Given the description of an element on the screen output the (x, y) to click on. 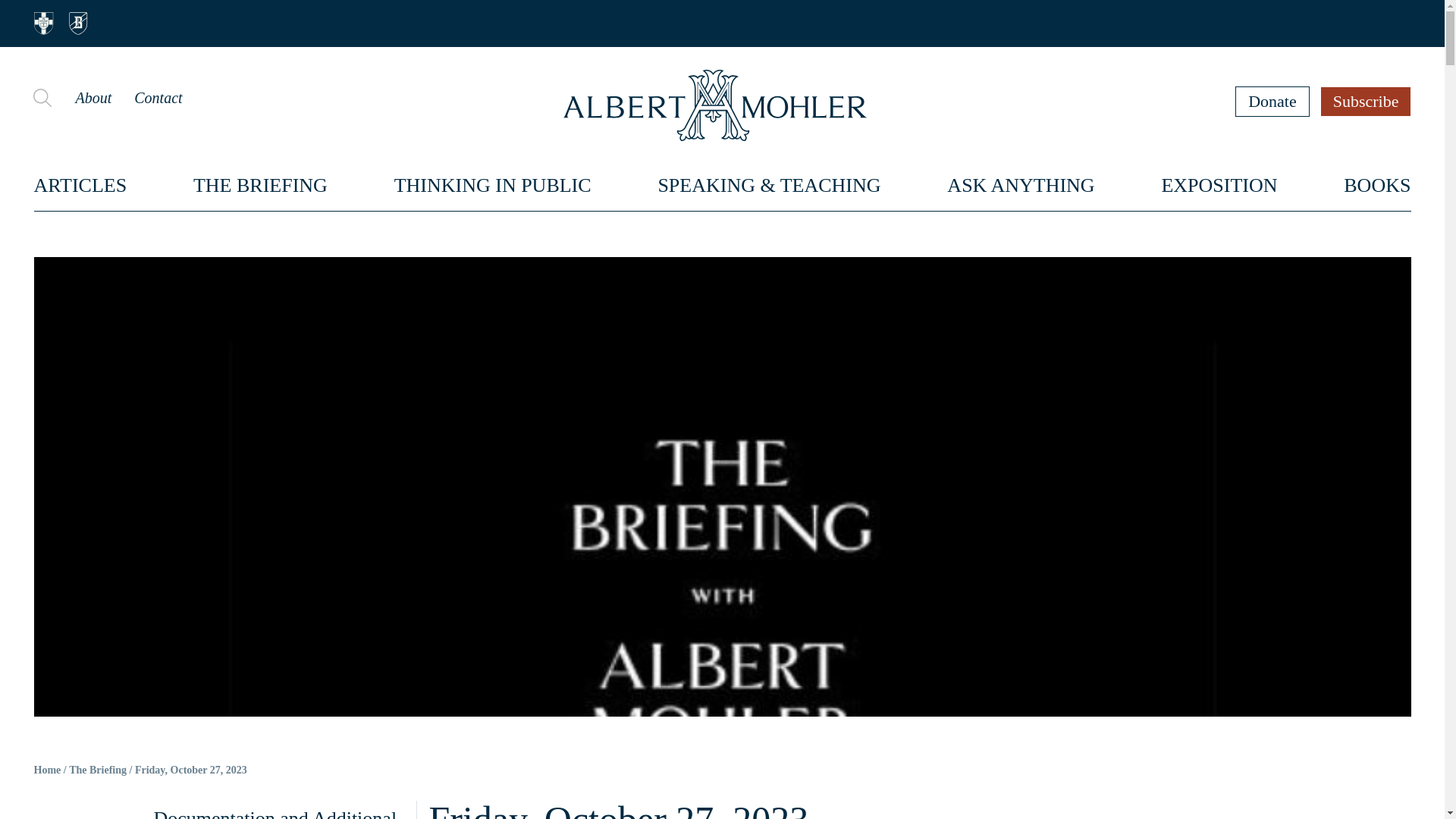
ASK ANYTHING (1020, 185)
THINKING IN PUBLIC (492, 185)
Subscribe (1366, 101)
The Briefing (97, 770)
About (93, 97)
ARTICLES (79, 185)
BOOKS (1376, 185)
Contact (157, 97)
Home (47, 770)
THE BRIEFING (260, 185)
